Given the description of an element on the screen output the (x, y) to click on. 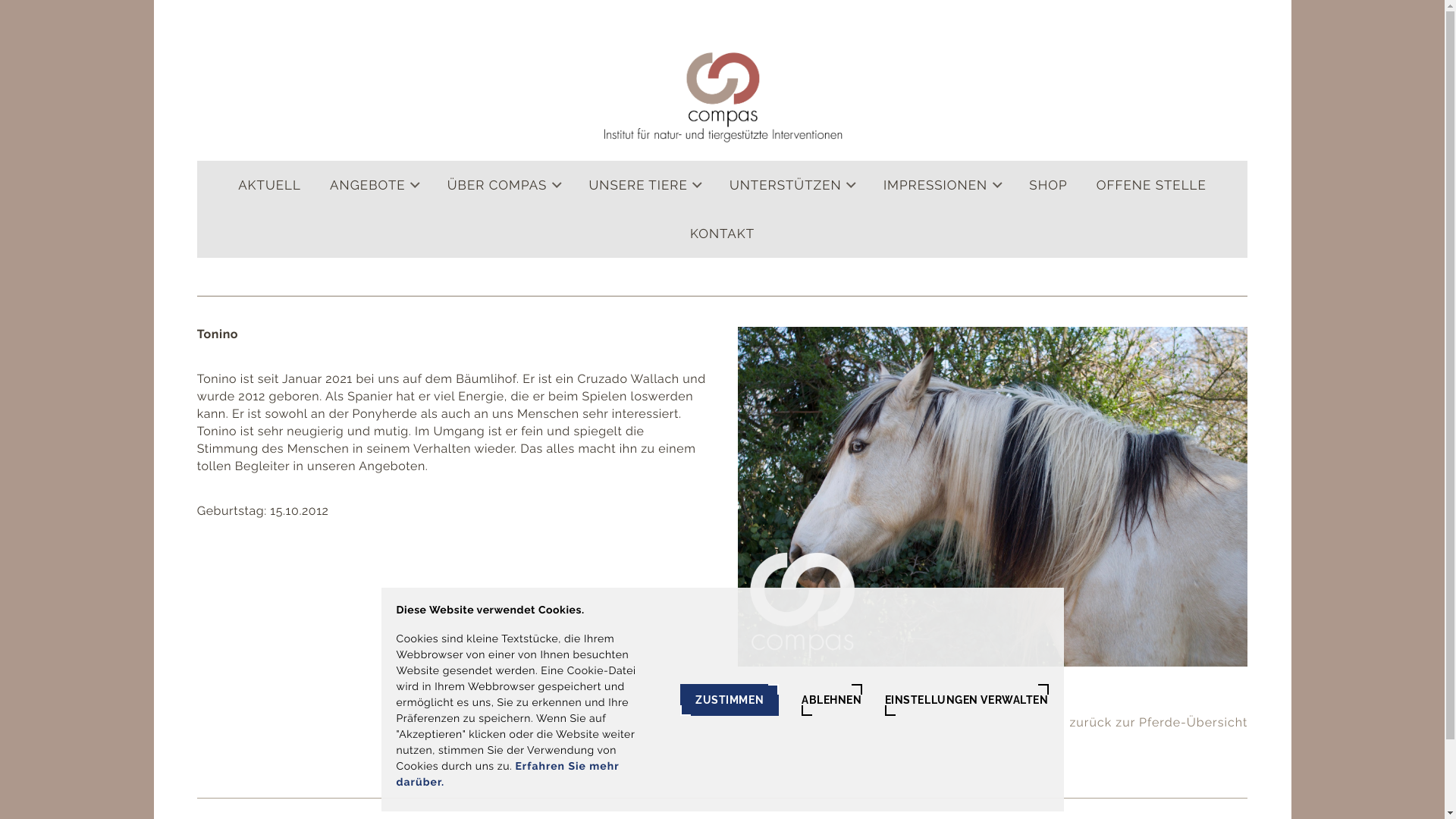
SHOP Element type: text (1047, 184)
compas Element type: hover (722, 98)
KONTAKT Element type: text (722, 233)
AKTUELL Element type: text (269, 184)
ABLEHNEN Element type: text (831, 699)
ZUSTIMMEN Element type: text (729, 699)
EINSTELLUNGEN VERWALTEN Element type: text (966, 699)
OFFENE STELLE Element type: text (1151, 184)
